Given the description of an element on the screen output the (x, y) to click on. 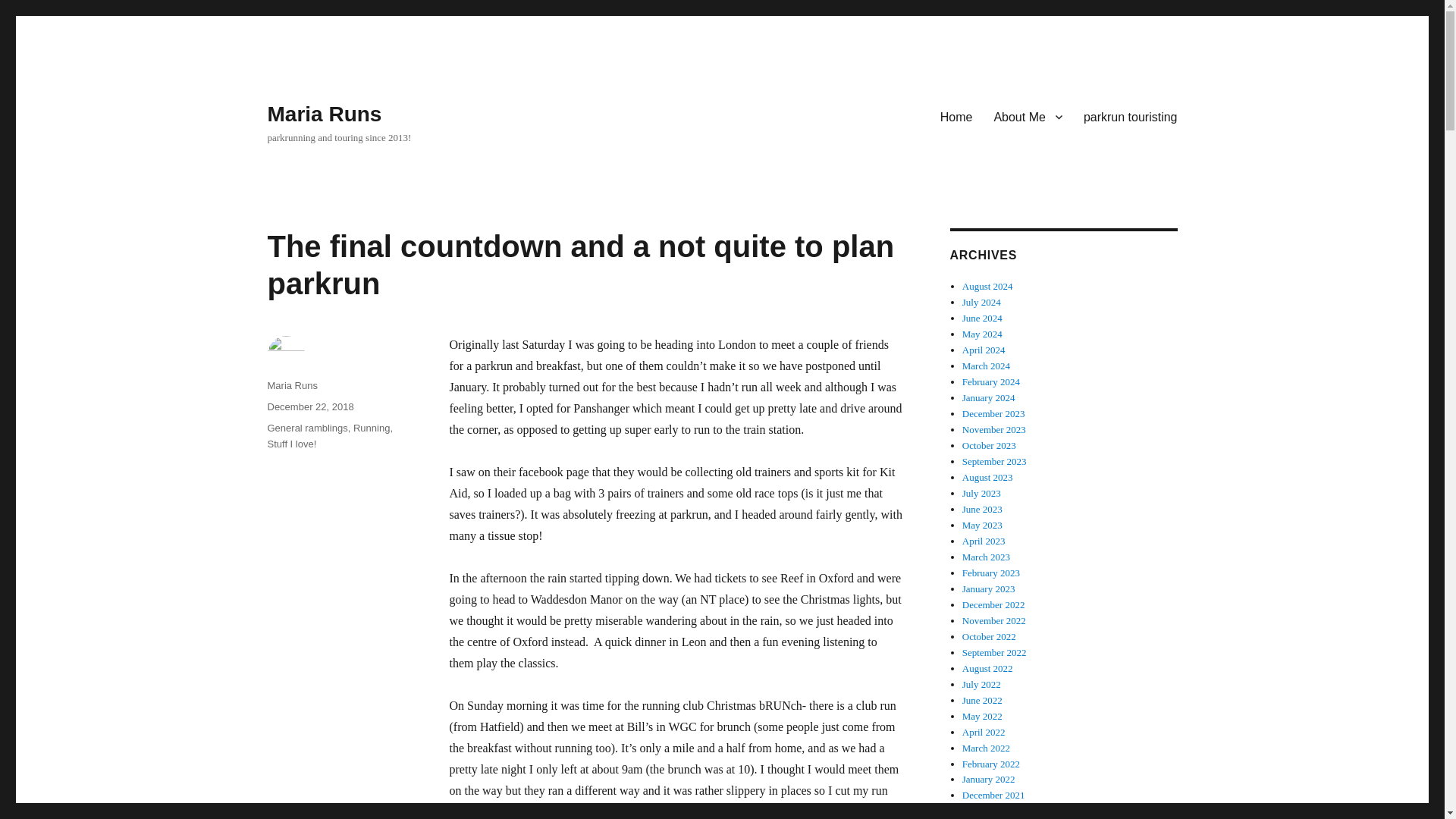
Stuff I love! (290, 443)
Home (957, 116)
Maria Runs (323, 114)
General ramblings (306, 428)
Running (371, 428)
December 22, 2018 (309, 406)
Maria Runs (291, 385)
About Me (1026, 116)
parkrun touristing (1130, 116)
